Given the description of an element on the screen output the (x, y) to click on. 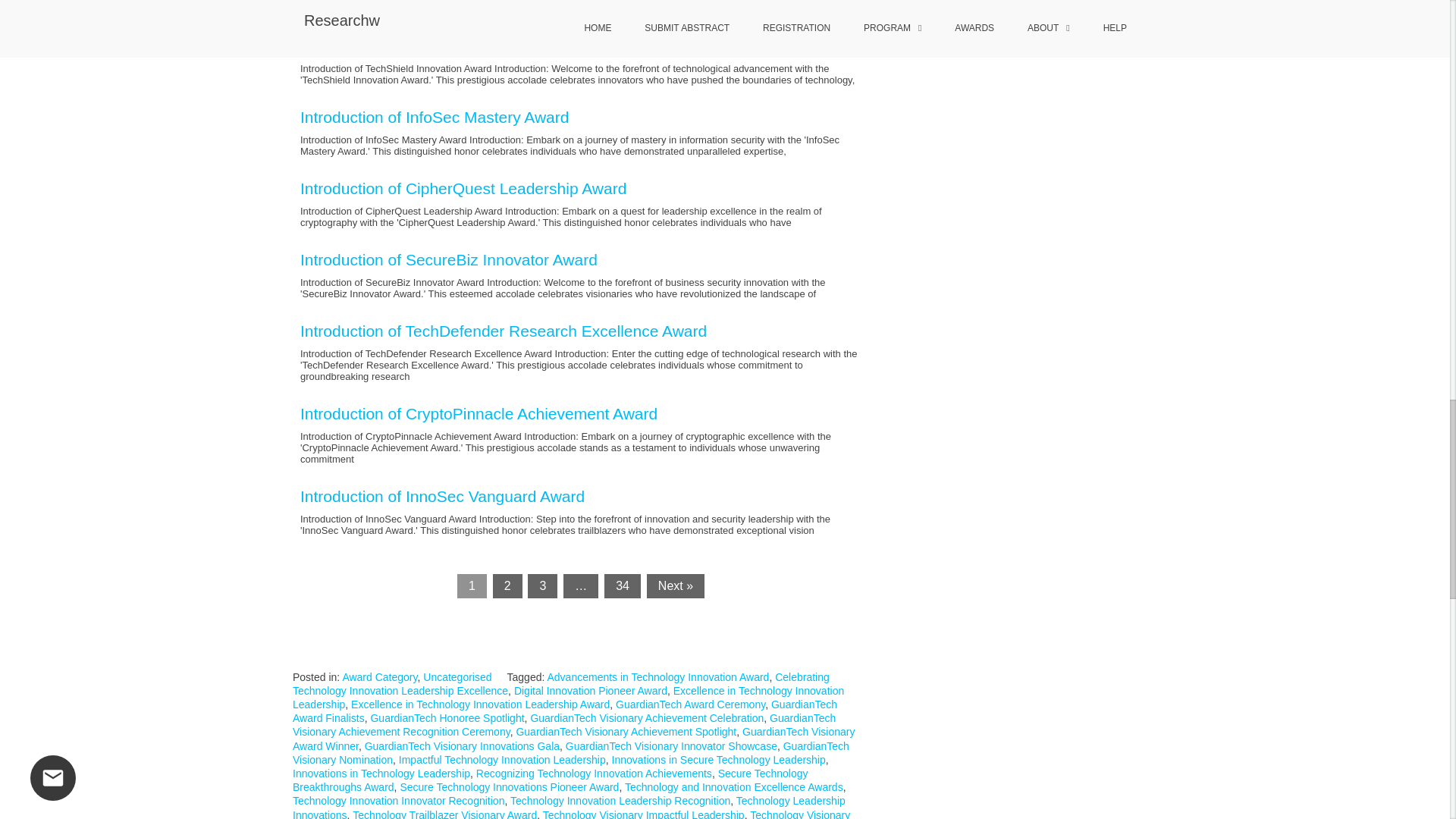
Introduction of TechDefender Research Excellence Award (502, 330)
Introduction of SecureBiz Innovator Award (447, 259)
Introduction of CipherQuest Leadership Award (462, 188)
Introduction of CryptoPinnacle Achievement Award (478, 413)
Introduction of InfoSec Mastery Award (434, 117)
Introduction of TechShield Innovation Award (454, 45)
